Given the description of an element on the screen output the (x, y) to click on. 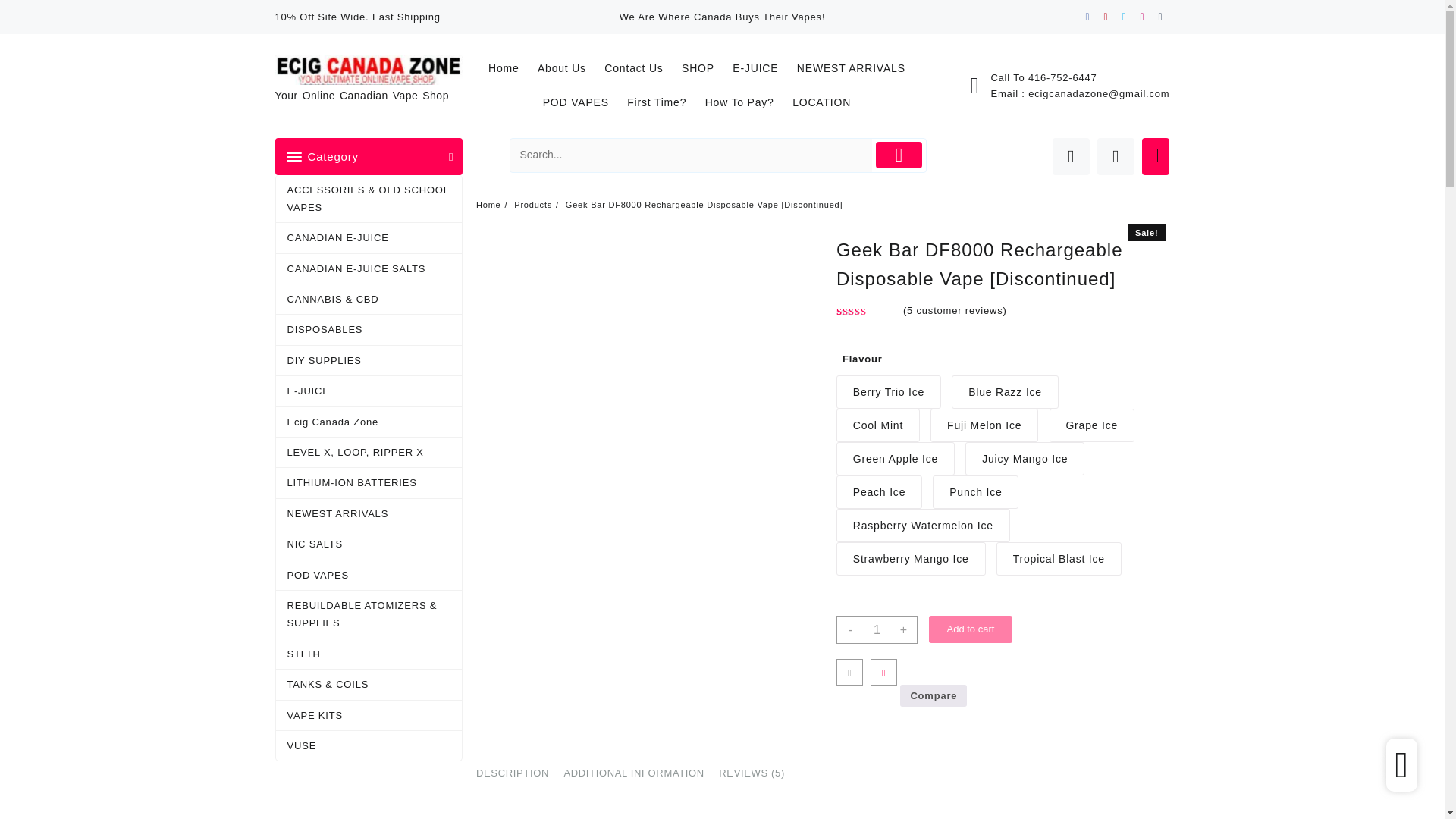
LOCATION (1106, 29)
Contact Us (518, 29)
My Account (1038, 77)
Berry Trio Ice (787, 362)
Blue Razz Ice (891, 362)
Grape Ice (778, 400)
Cool Mint (987, 362)
First Time? (936, 29)
1 (775, 550)
Compare Product (1085, 77)
About Us (445, 29)
Fuji Melon Ice (1084, 362)
Products in Wishlist (1062, 77)
How To Pay? (1021, 29)
NEWEST ARRIVALS (744, 29)
